Given the description of an element on the screen output the (x, y) to click on. 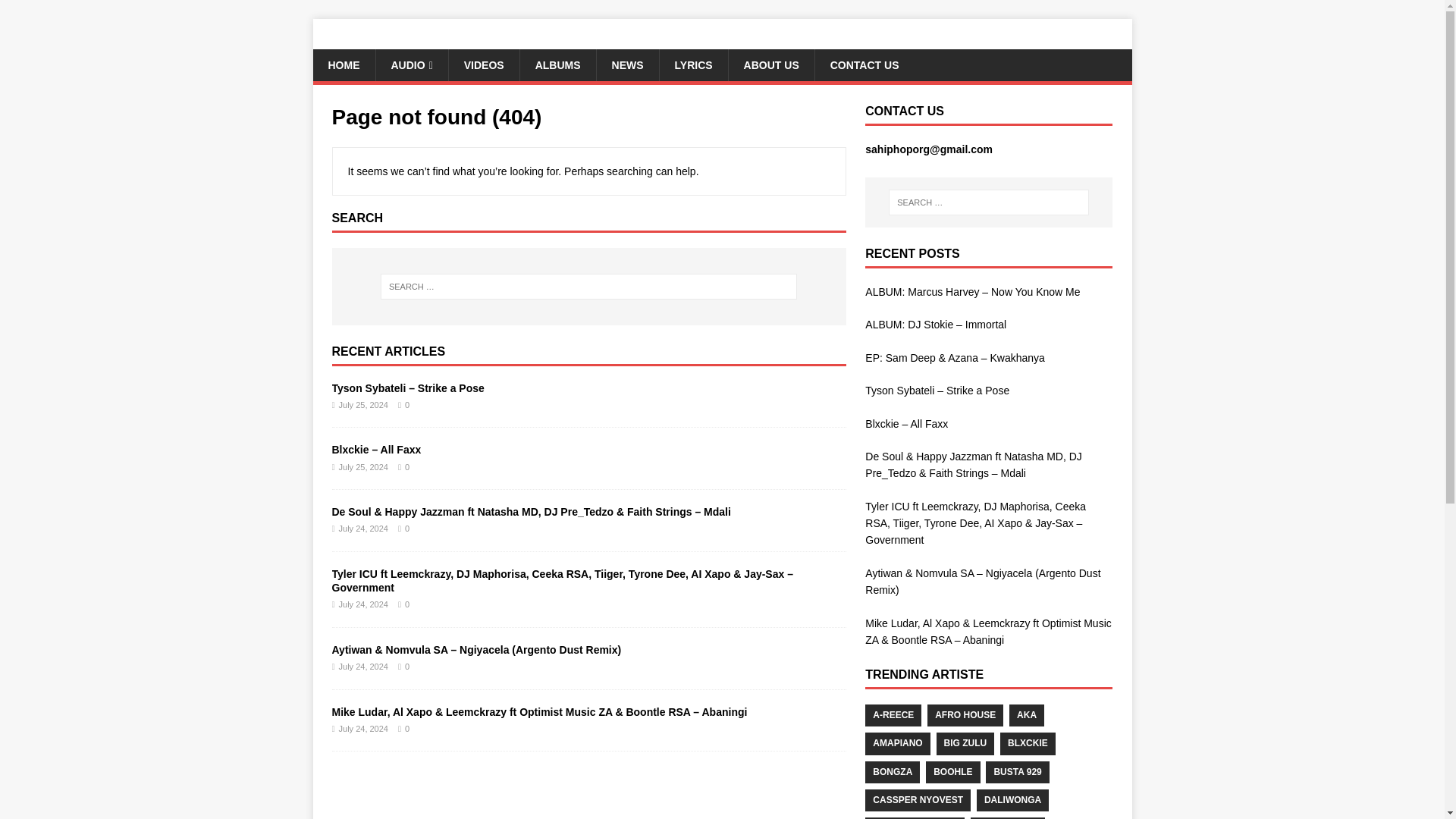
ALBUMS (557, 65)
0 (406, 604)
0 (406, 466)
VIDEOS (483, 65)
LYRICS (693, 65)
CONTACT US (863, 65)
Search (56, 11)
0 (406, 528)
ABOUT US (770, 65)
AUDIO (410, 65)
0 (406, 728)
0 (406, 665)
HOME (343, 65)
0 (406, 404)
NEWS (627, 65)
